Given the description of an element on the screen output the (x, y) to click on. 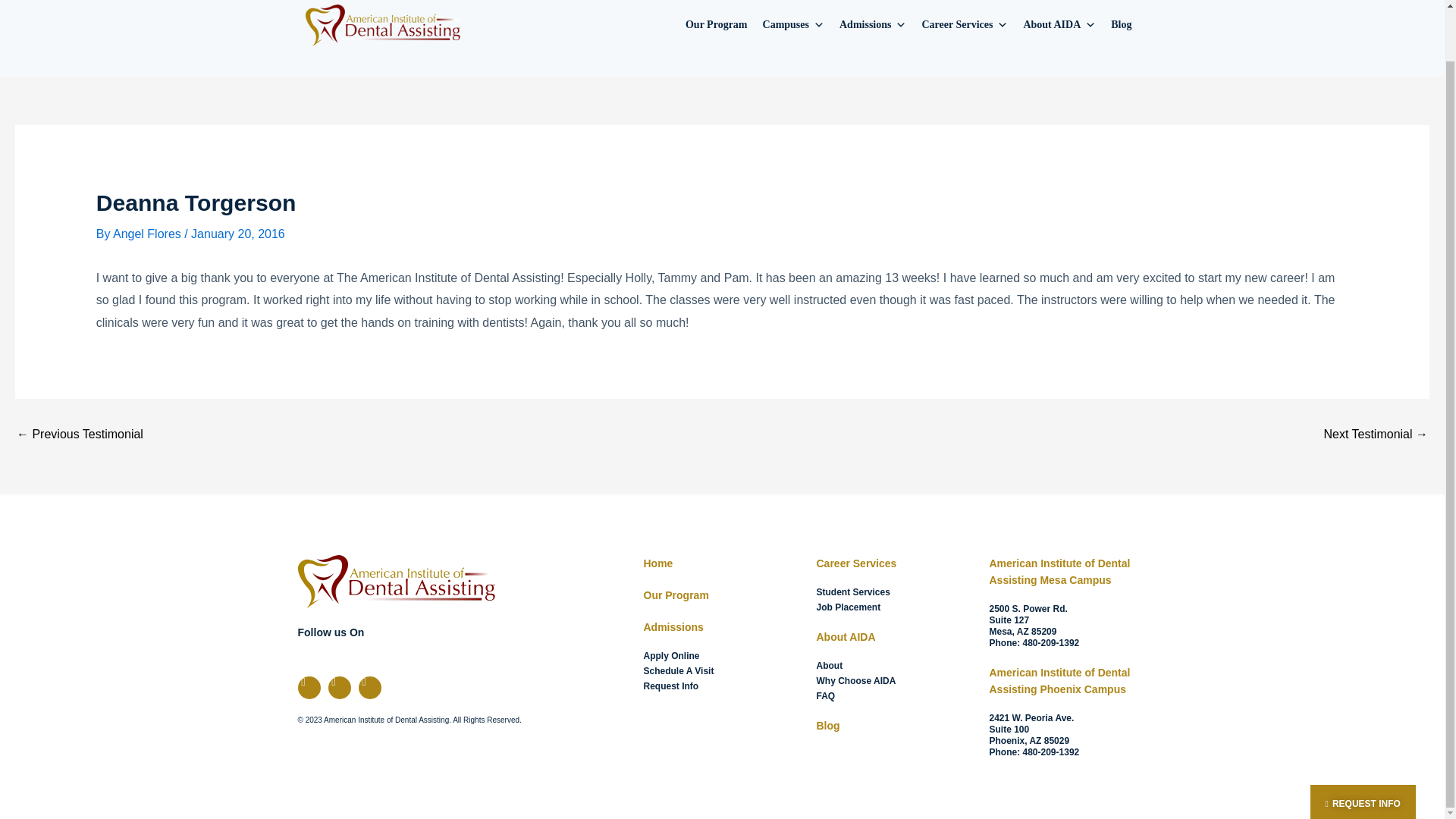
Angel Flores (148, 233)
Taylor Godfrey (1375, 434)
Blog (1120, 24)
Campuses (793, 24)
Alexandra Accardo (79, 434)
About AIDA (1058, 24)
Career Services (964, 24)
REQUEST INFO (1362, 747)
Admissions (872, 24)
Our Program (716, 24)
